Given the description of an element on the screen output the (x, y) to click on. 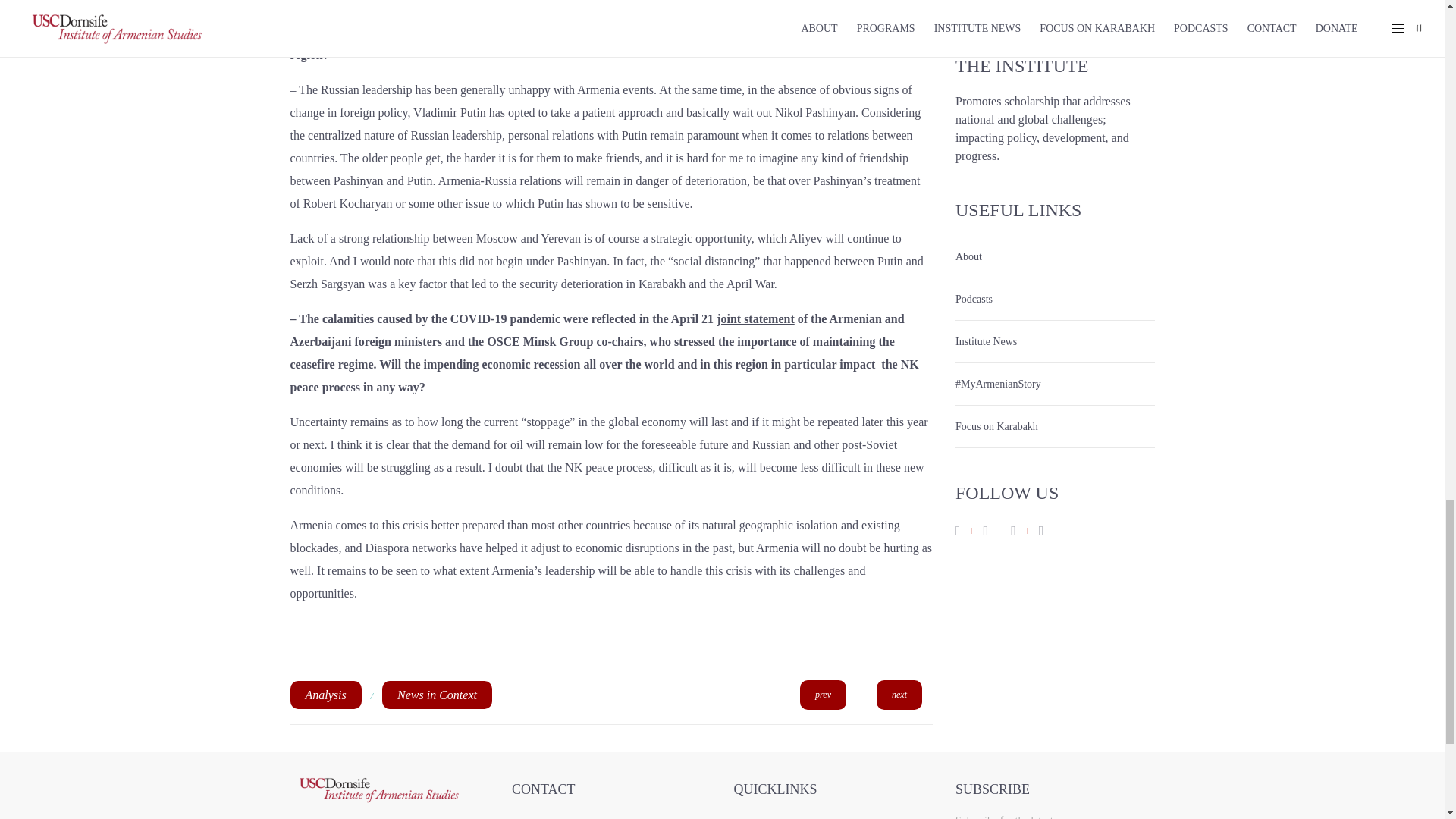
Analysis (325, 694)
joint statement (755, 318)
prev (813, 695)
News in Context (436, 694)
next (896, 695)
